Given the description of an element on the screen output the (x, y) to click on. 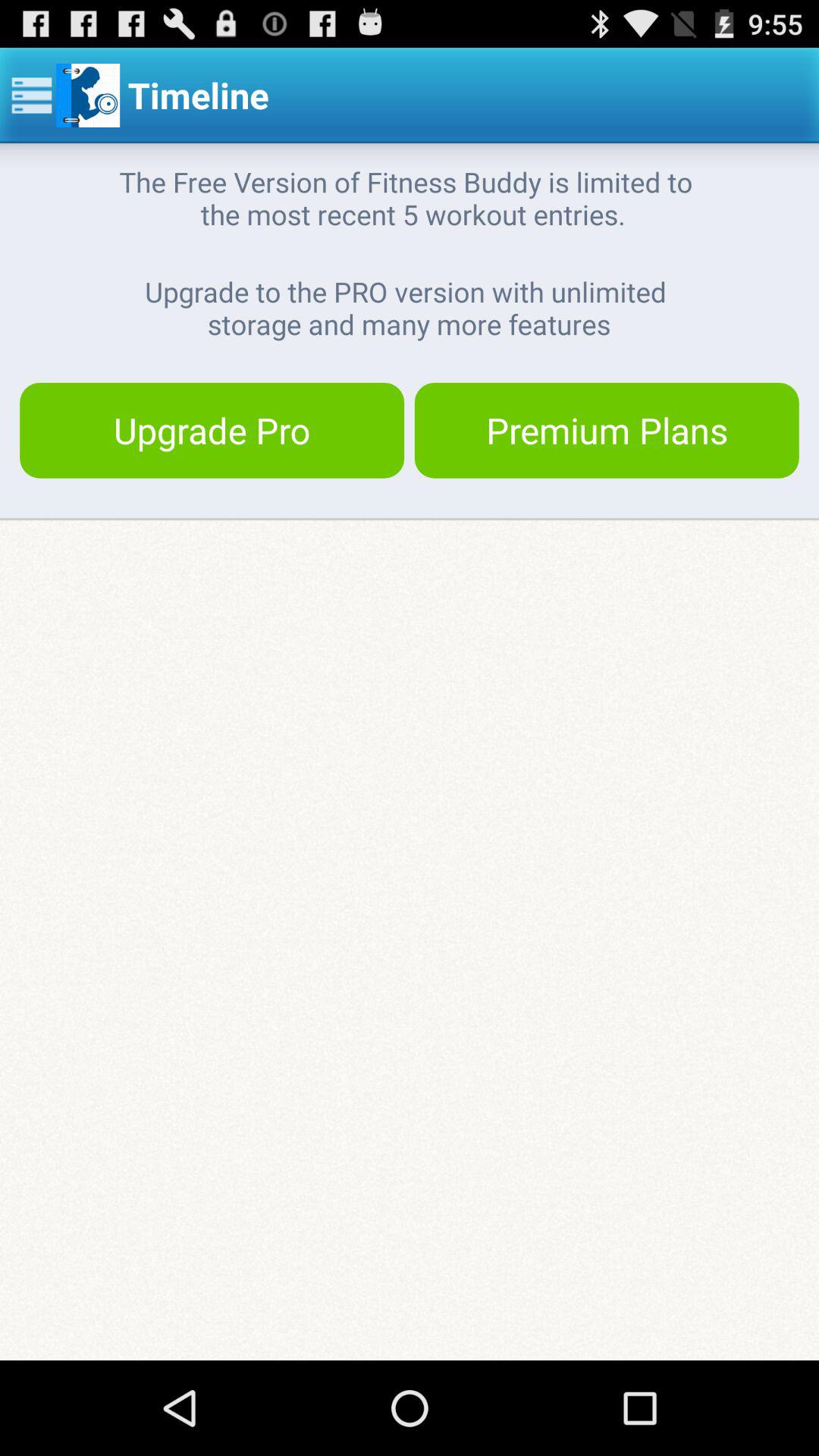
turn off the premium plans item (606, 430)
